Given the description of an element on the screen output the (x, y) to click on. 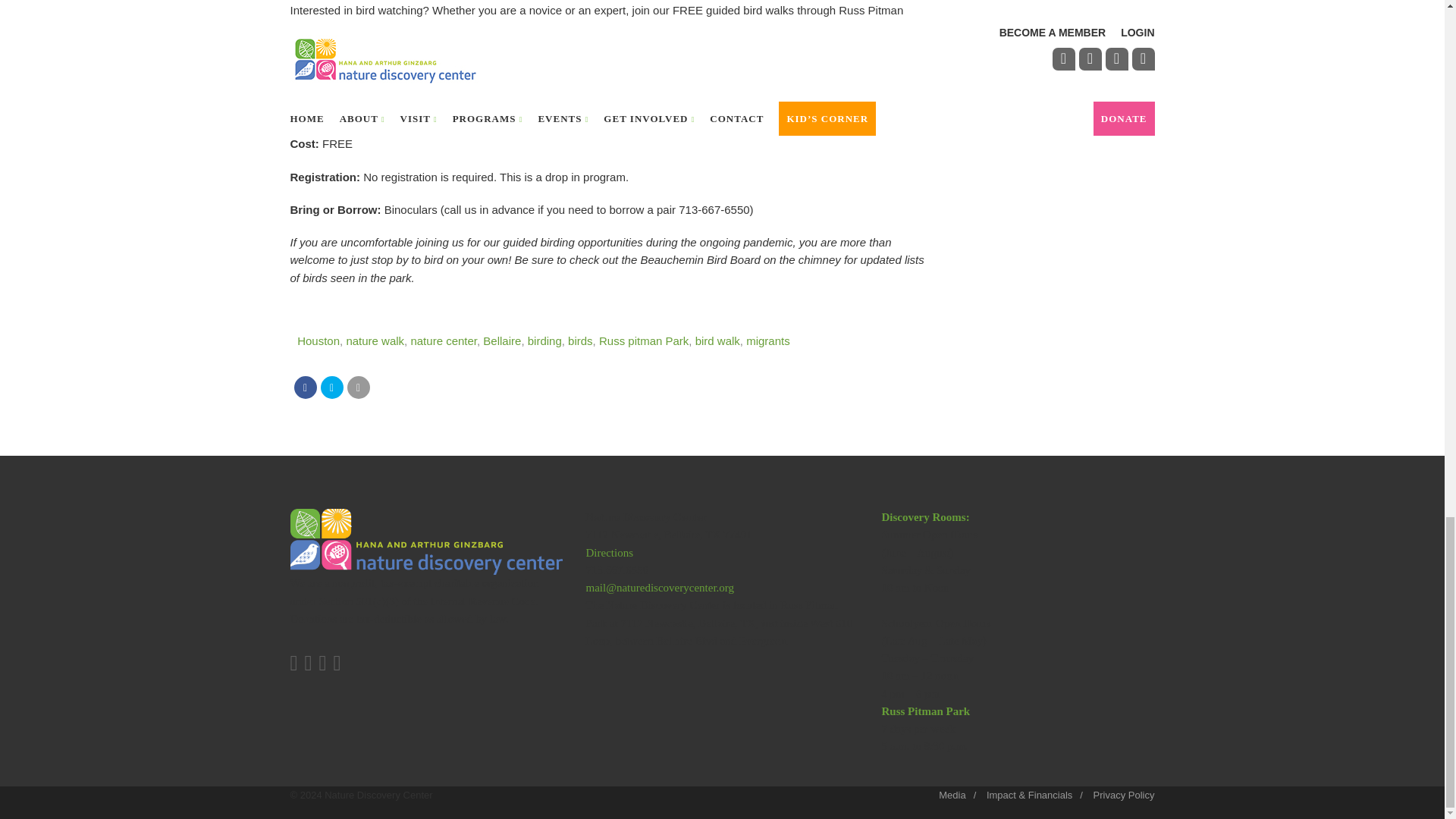
Email (358, 386)
Tweet (331, 386)
Share on Facebook (305, 386)
